Given the description of an element on the screen output the (x, y) to click on. 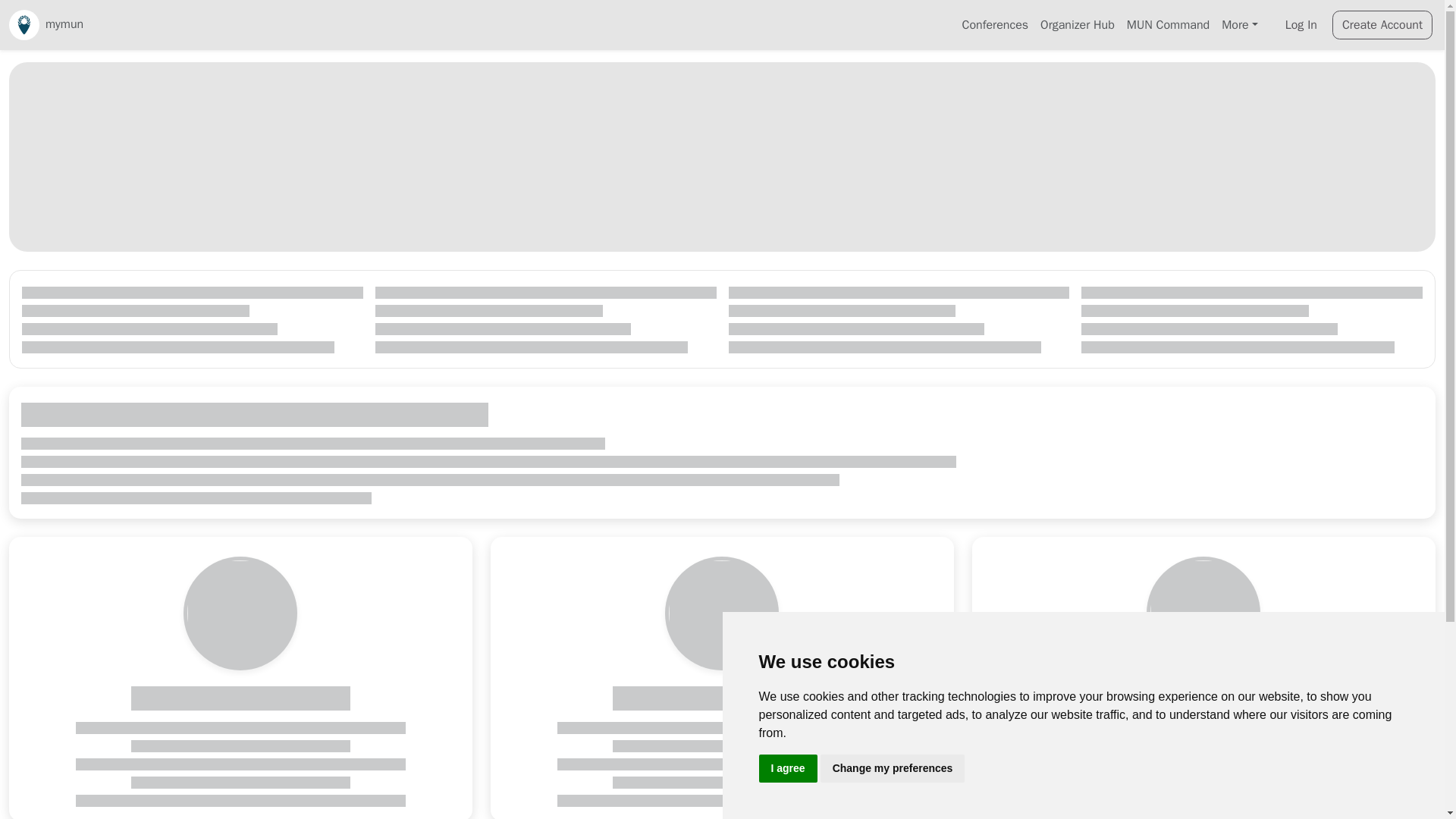
Log In (1301, 24)
Conferences (995, 24)
mymun (45, 24)
MUN Command (1168, 24)
Create Account (1382, 24)
Organizer Hub (1077, 24)
Change my preferences (893, 768)
I agree (787, 768)
